Given the description of an element on the screen output the (x, y) to click on. 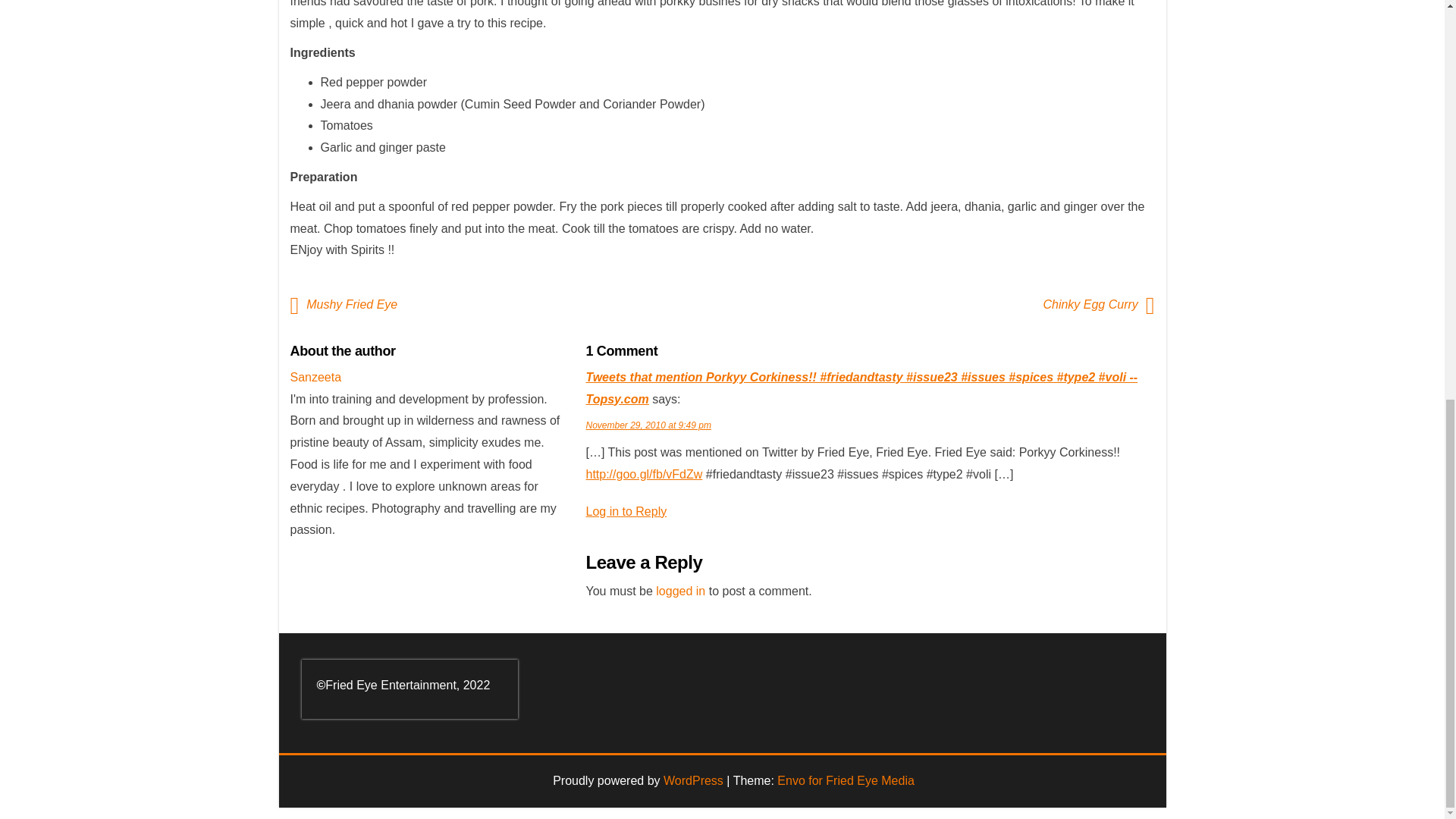
November 29, 2010 at 9:49 pm (647, 425)
logged in (680, 590)
Envo for Fried Eye Media (845, 780)
Posts by Sanzeeta (314, 377)
Sanzeeta (314, 377)
Chinky Egg Curry (1086, 305)
WordPress (693, 780)
Log in to Reply (625, 511)
Mushy Fried Eye (354, 305)
